Given the description of an element on the screen output the (x, y) to click on. 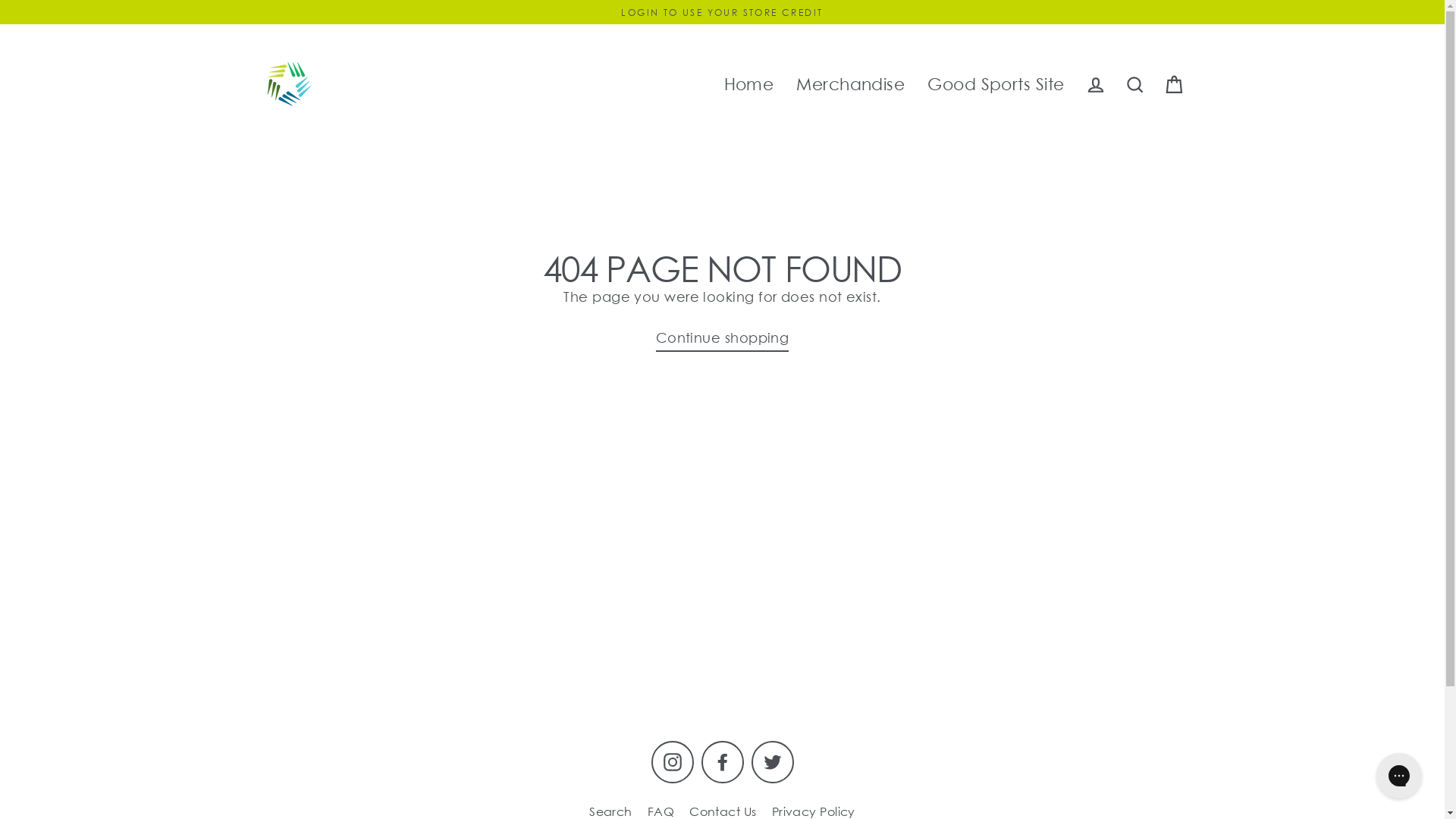
Gorgias live chat messenger Element type: hover (1398, 775)
Facebook Element type: text (721, 761)
Cart Element type: text (1173, 85)
Continue shopping Element type: text (722, 339)
Skip to content Element type: text (0, 0)
Search Element type: text (1134, 85)
Good Sports Site Element type: text (995, 84)
Home Element type: text (748, 84)
Log in Element type: text (1094, 85)
Twitter Element type: text (771, 761)
Instagram Element type: text (671, 761)
Merchandise Element type: text (850, 84)
